Given the description of an element on the screen output the (x, y) to click on. 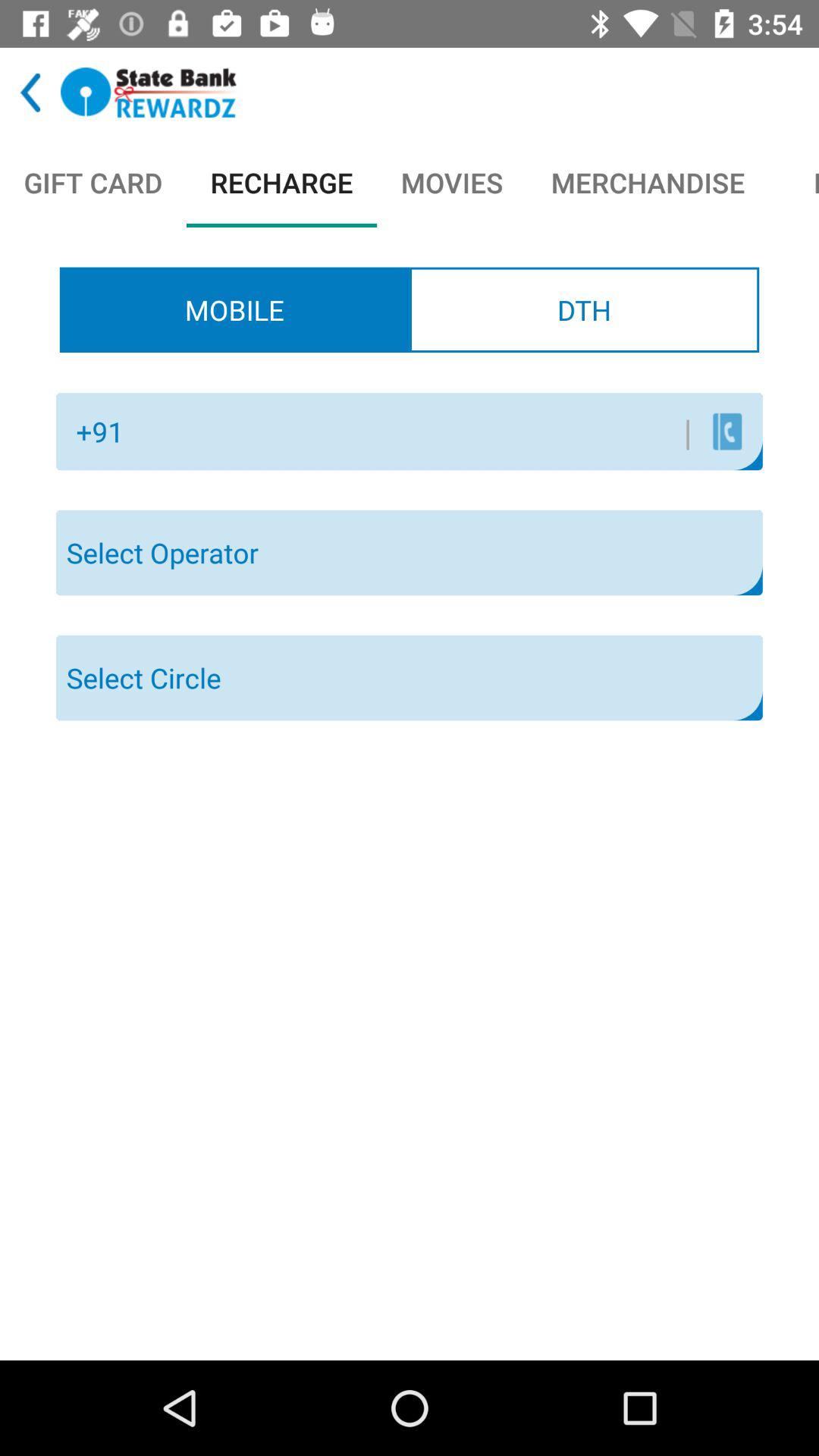
scroll until dth radio button (584, 309)
